Given the description of an element on the screen output the (x, y) to click on. 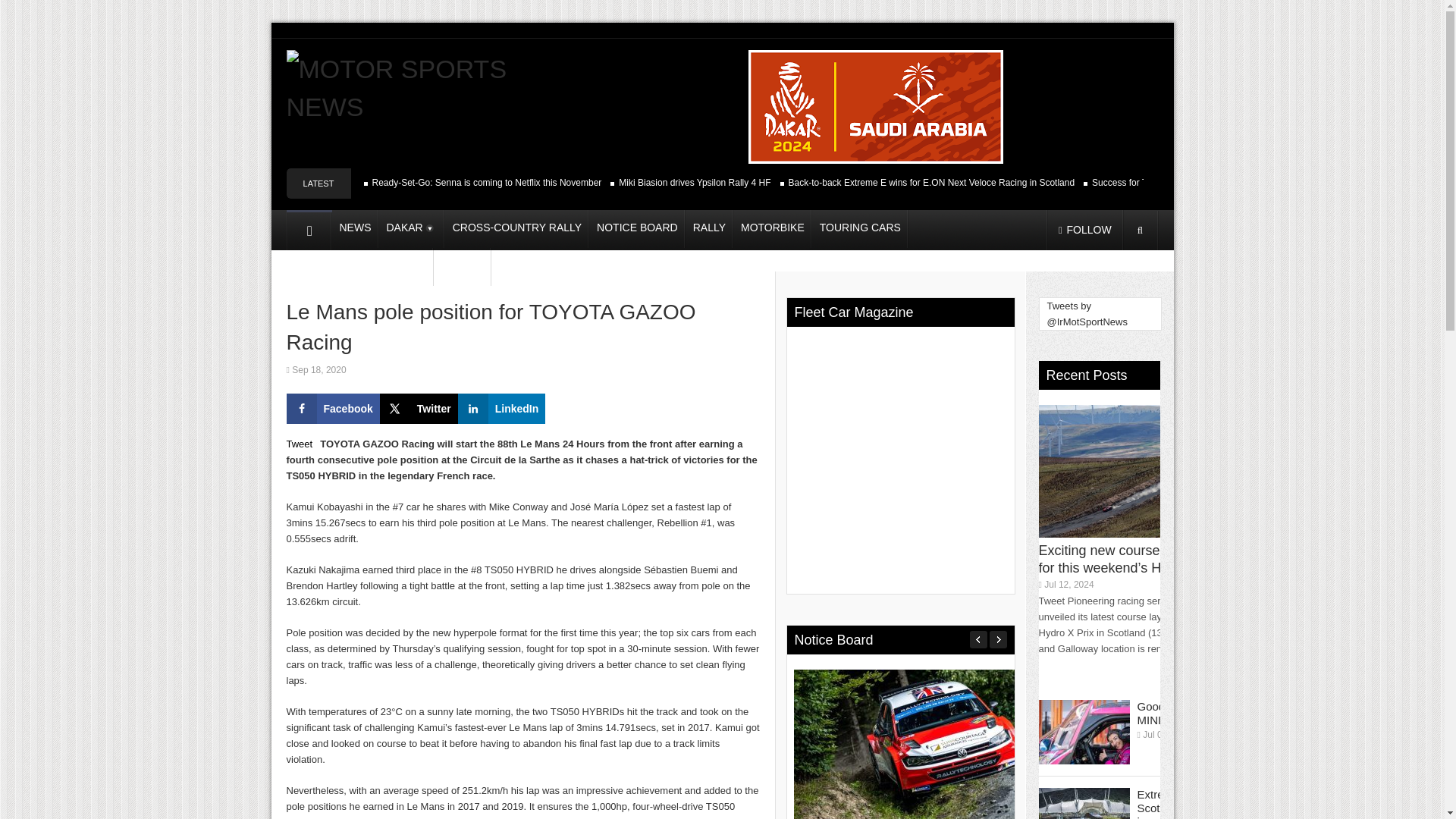
NEWS (354, 228)
RALLY (709, 228)
Facebook (333, 408)
Twitter (419, 408)
Ready-Set-Go: Senna is coming to Netflix this November (486, 182)
Share on LinkedIn (502, 408)
NOTICE BOARD (637, 228)
DAKAR (411, 228)
CROSS-COUNTRY RALLY (517, 228)
EVENTS (462, 266)
LinkedIn (502, 408)
Tweet (299, 443)
Share on X (419, 408)
Miki Biasion drives Ypsilon Rally 4 HF (694, 182)
